Given the description of an element on the screen output the (x, y) to click on. 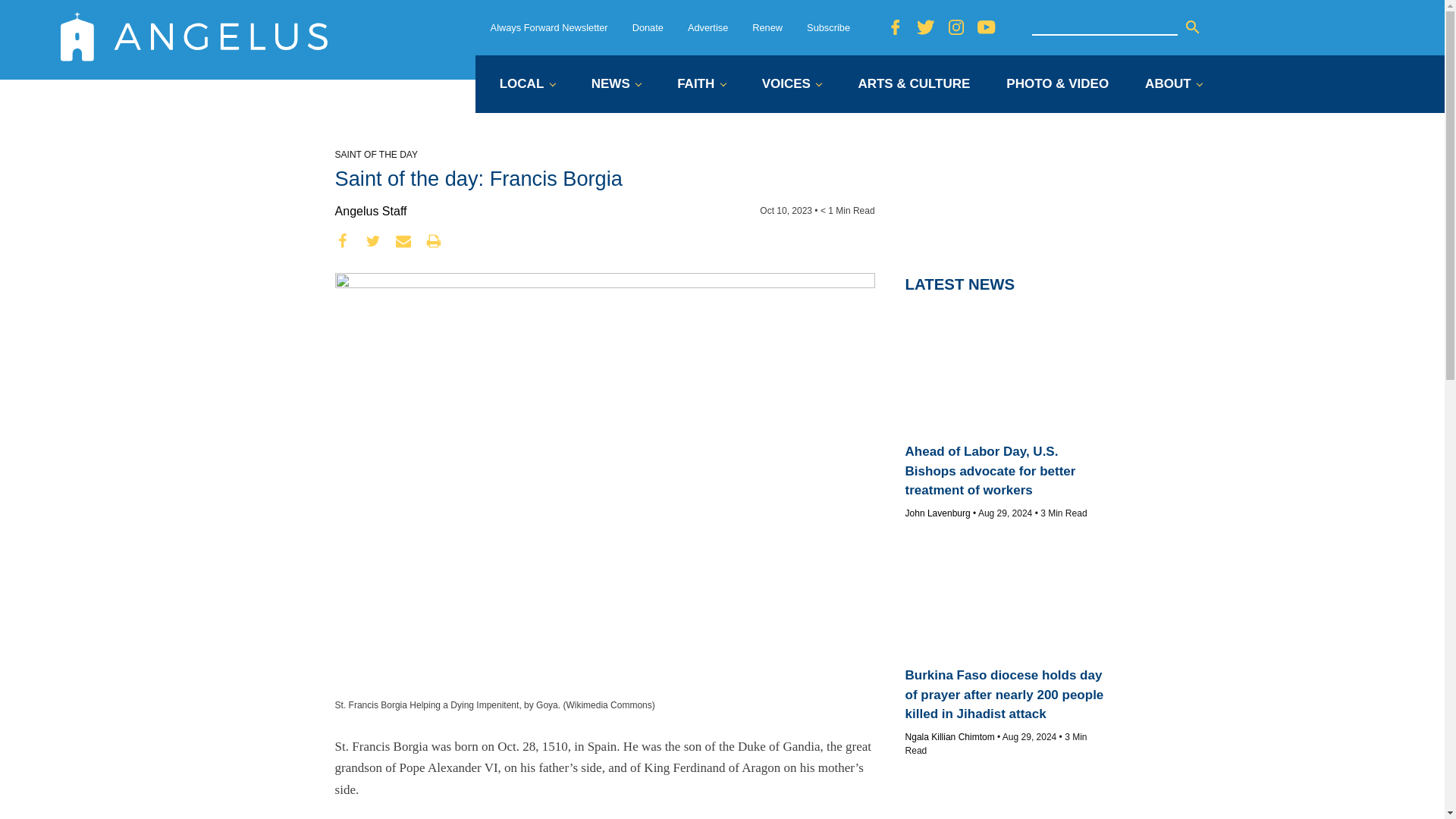
Posts by Angelus Staff (370, 210)
Advertise (707, 27)
Posts by John Lavenburg (938, 512)
Search (1192, 27)
Posts by Ngala Killian Chimtom (949, 737)
Subscribe (828, 27)
FAITH (701, 84)
ABOUT (1173, 84)
Always Forward Newsletter (549, 27)
LOCAL (526, 84)
